Given the description of an element on the screen output the (x, y) to click on. 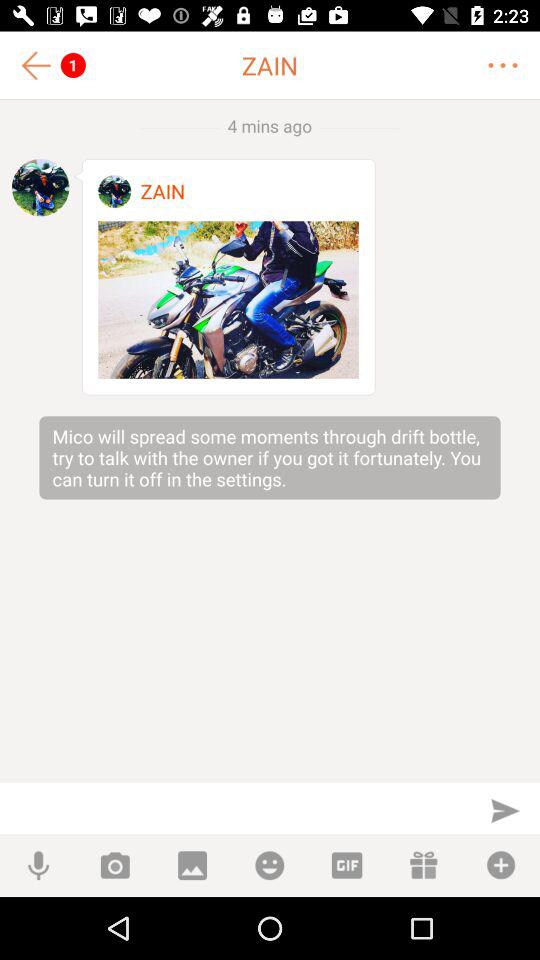
mic button (38, 865)
